Given the description of an element on the screen output the (x, y) to click on. 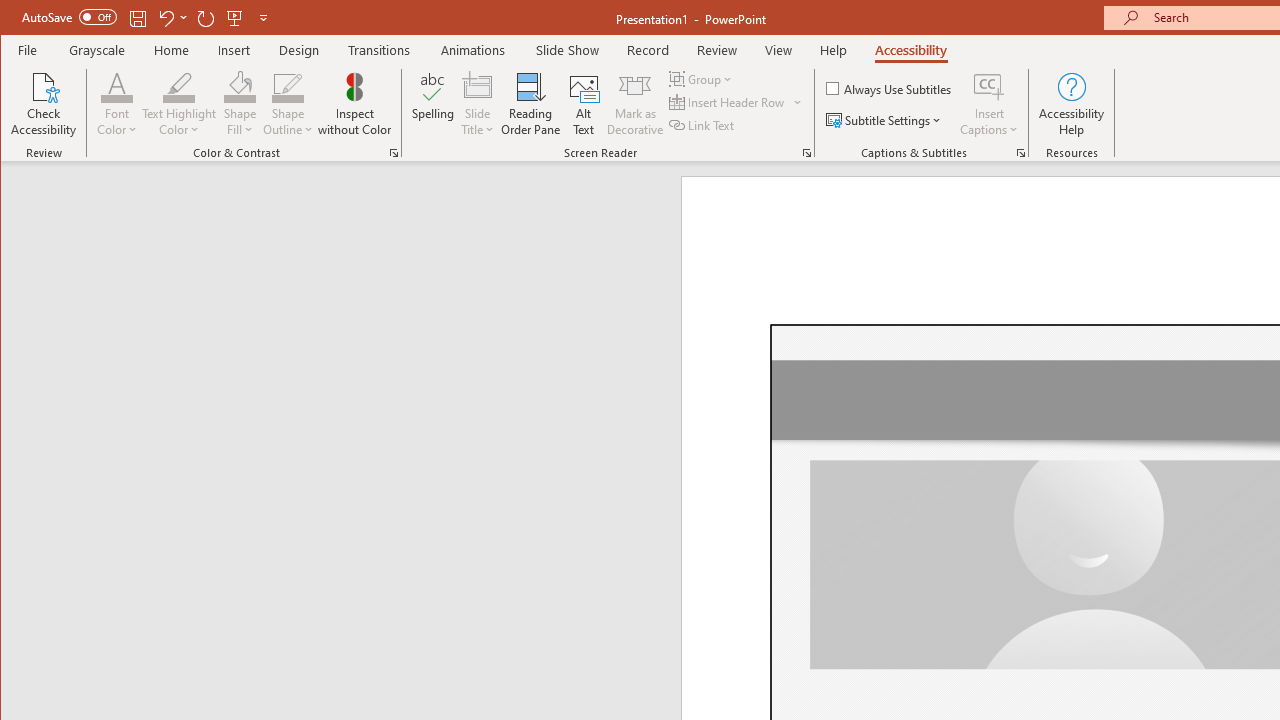
Insert Captions (989, 104)
Always Use Subtitles (890, 88)
Screen Reader (806, 152)
Reading Order Pane (531, 104)
Spelling... (432, 104)
Slide Title (477, 86)
